Given the description of an element on the screen output the (x, y) to click on. 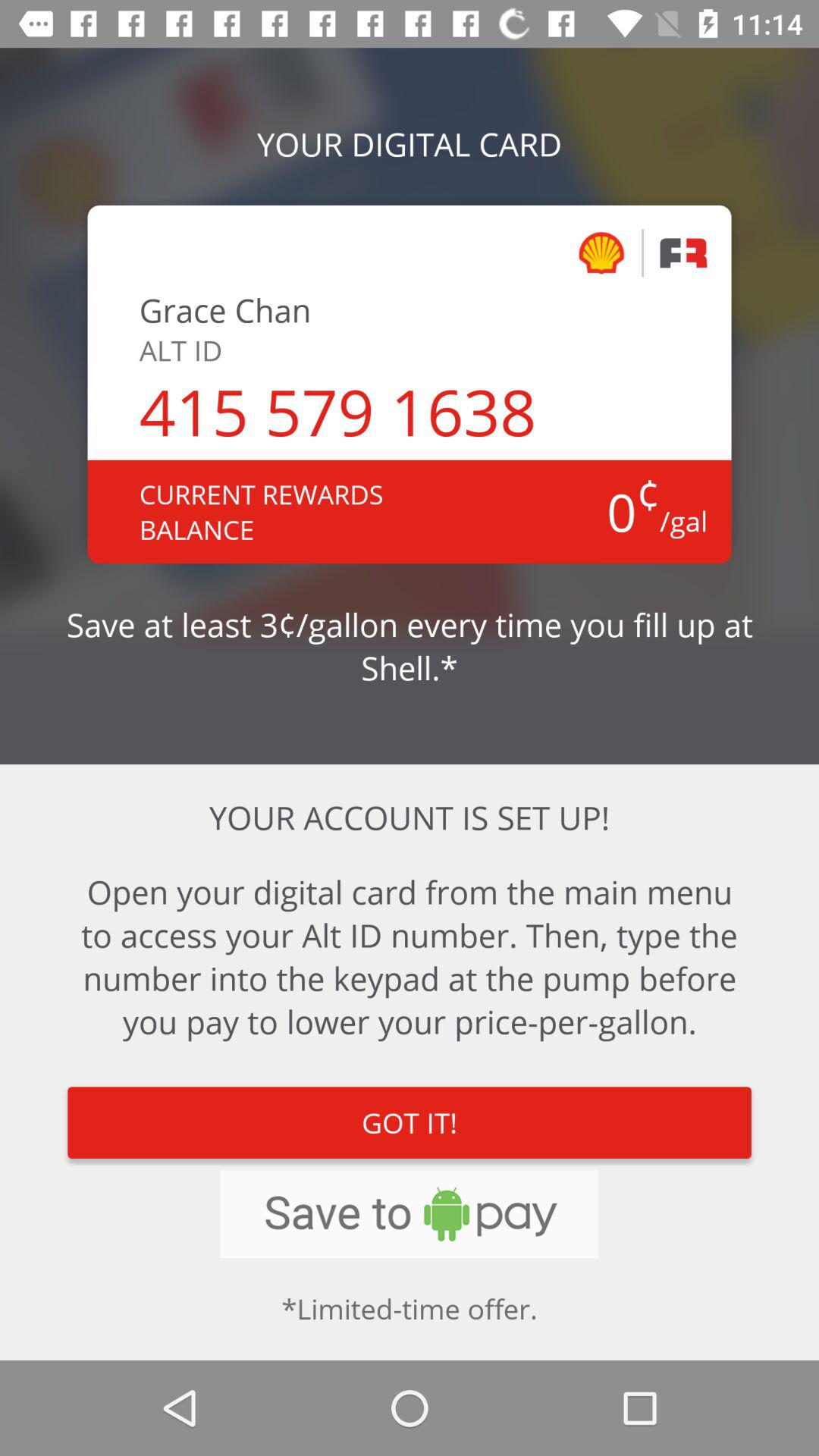
save to androidpay (409, 1214)
